Given the description of an element on the screen output the (x, y) to click on. 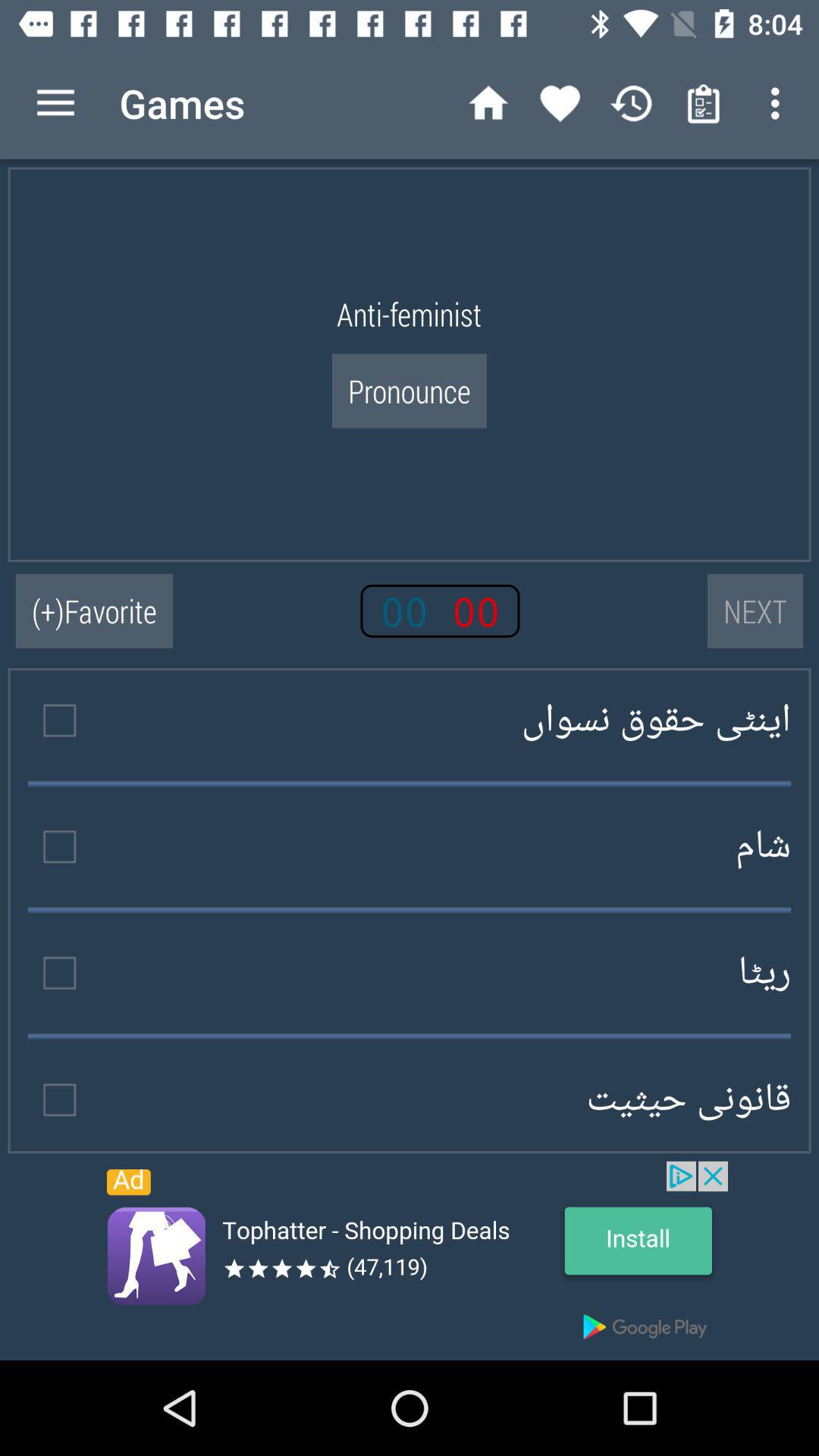
install application (409, 1260)
